Given the description of an element on the screen output the (x, y) to click on. 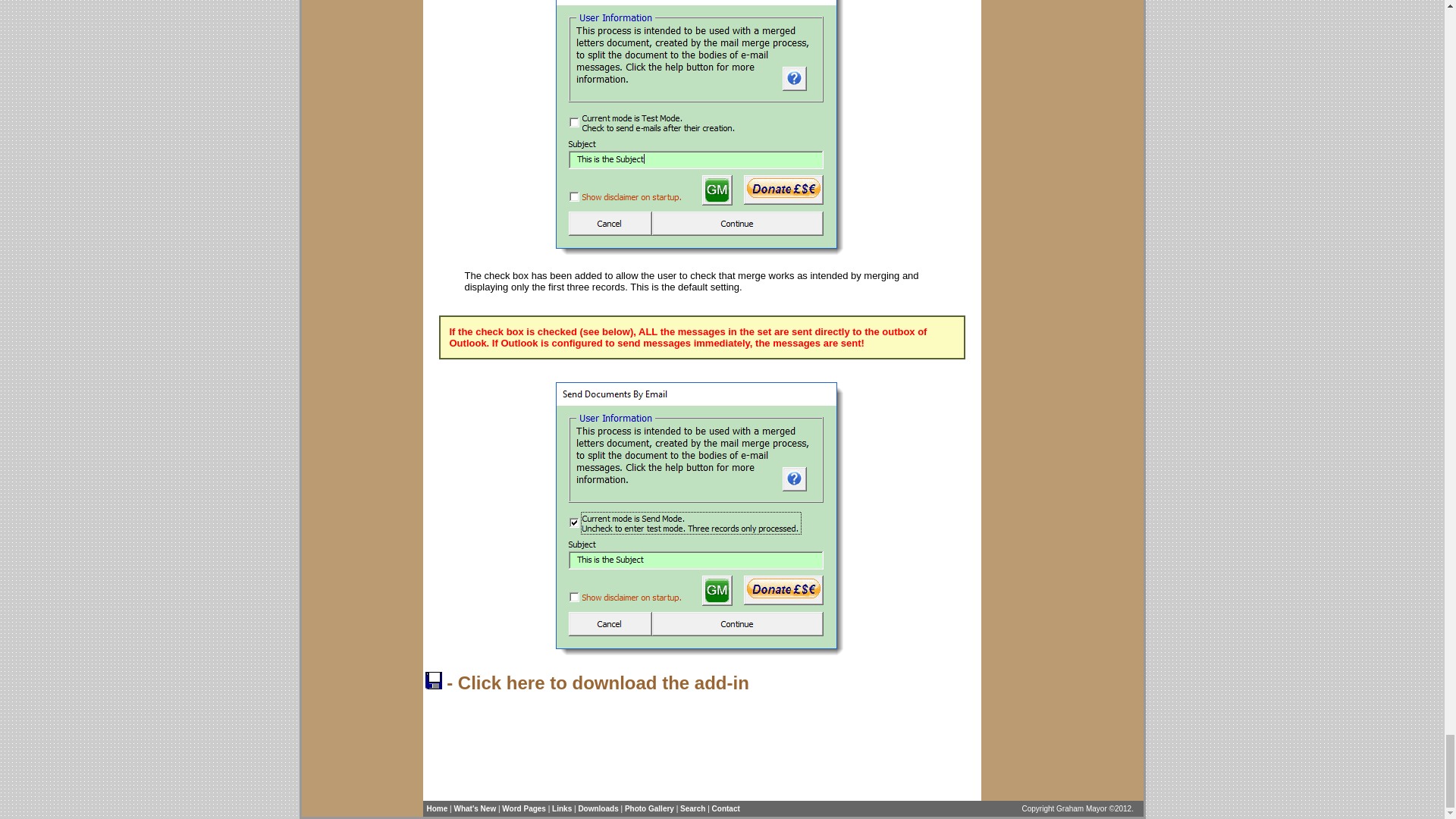
Home (436, 808)
- Click here to download the add-in (586, 682)
Downloads (597, 808)
Search (691, 808)
Contact (725, 808)
Links (561, 808)
What's New (474, 808)
Photo Gallery (649, 808)
Word Pages (524, 808)
